Given the description of an element on the screen output the (x, y) to click on. 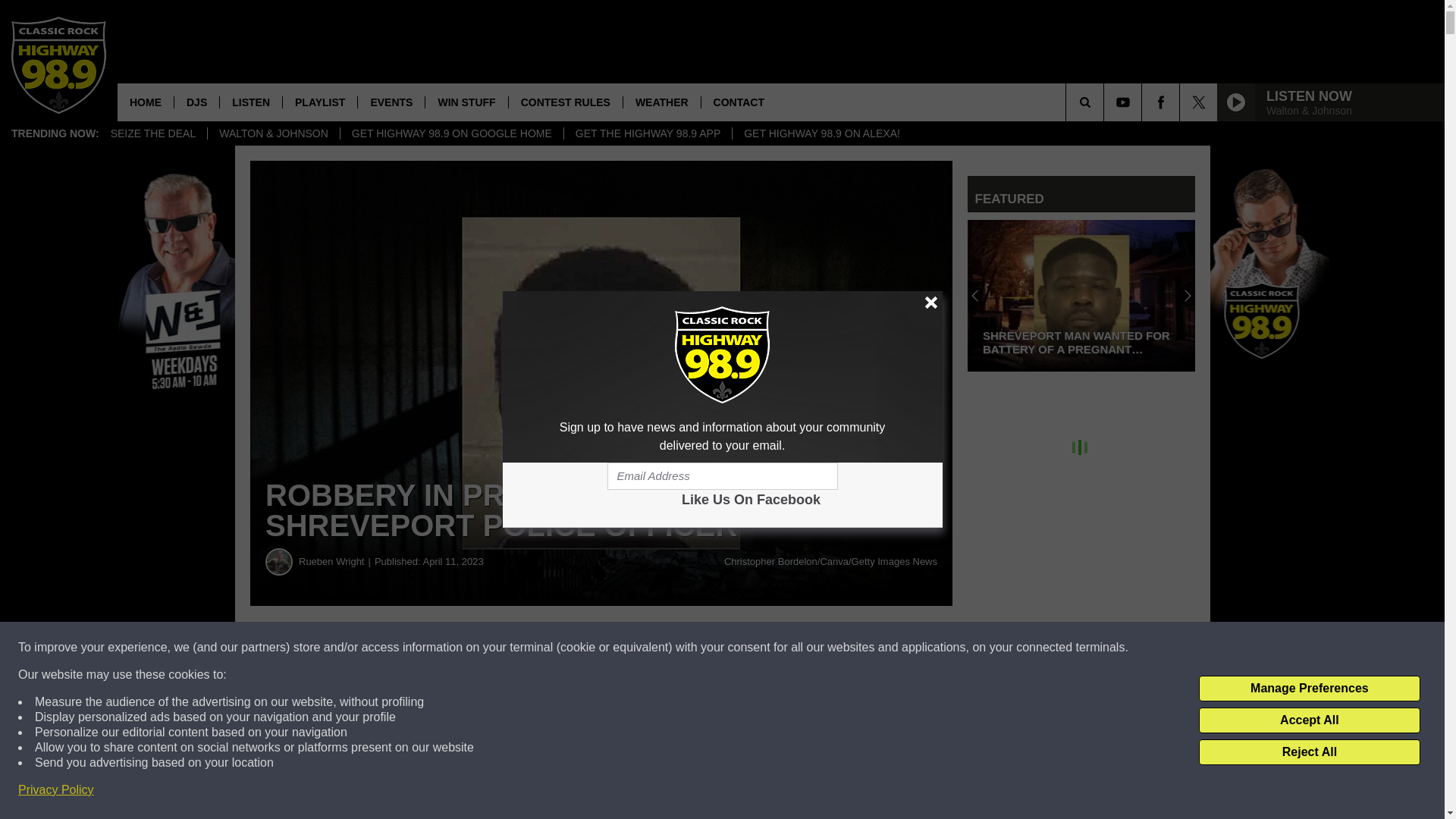
DJS (196, 102)
GET HIGHWAY 98.9 ON GOOGLE HOME (451, 133)
GET HIGHWAY 98.9 ON ALEXA! (821, 133)
Share on Facebook (460, 647)
PLAYLIST (319, 102)
Accept All (1309, 720)
SEARCH (1106, 102)
Email Address (722, 475)
Manage Preferences (1309, 688)
SEARCH (1106, 102)
LISTEN (250, 102)
WIN STUFF (465, 102)
CONTEST RULES (565, 102)
SEIZE THE DEAL (153, 133)
Privacy Policy (55, 789)
